Given the description of an element on the screen output the (x, y) to click on. 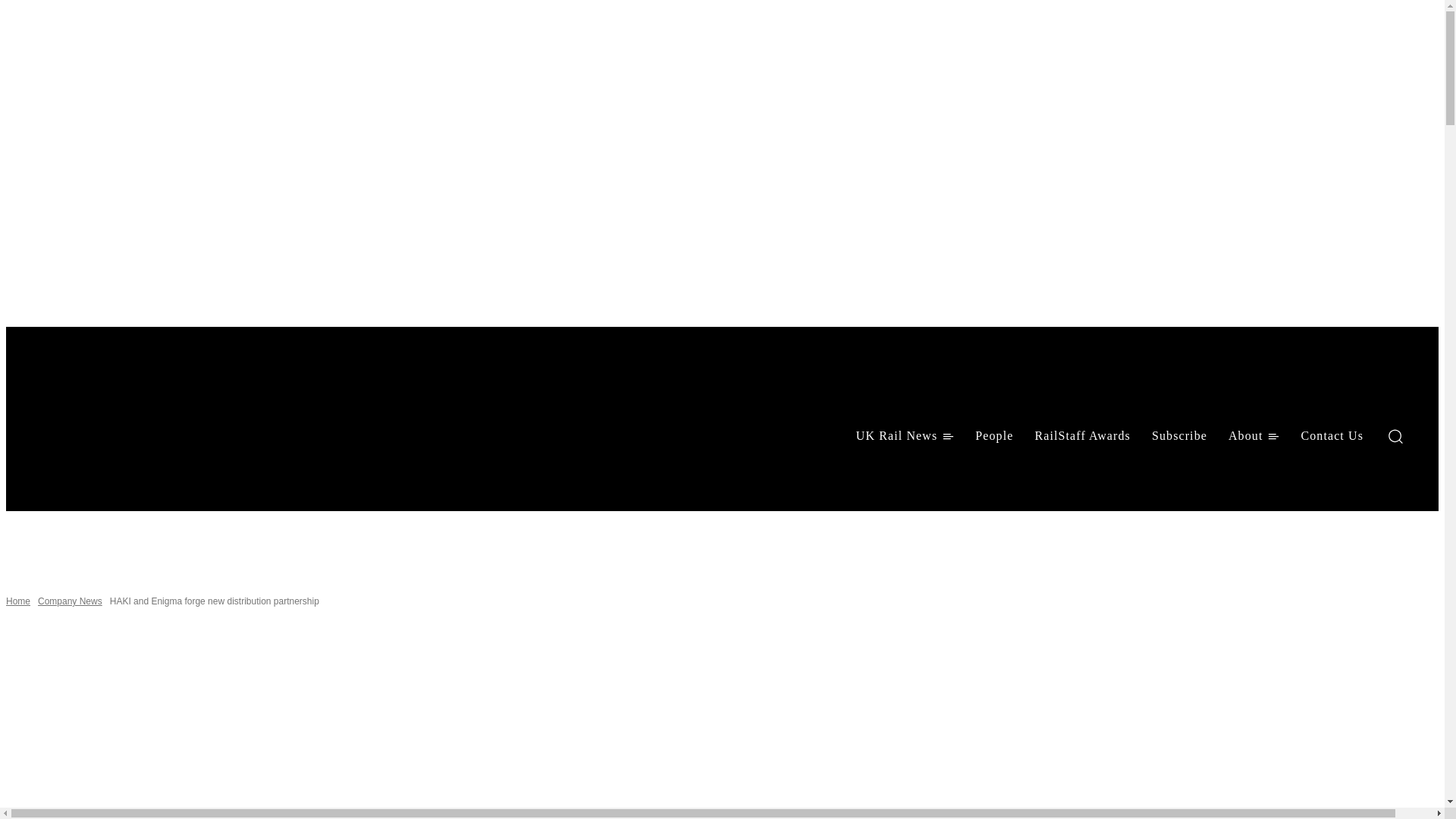
People (993, 434)
View all posts in Company News (69, 601)
Twitter (122, 476)
UK Rail News (904, 434)
Facebook (44, 476)
Linkedin (83, 476)
